Given the description of an element on the screen output the (x, y) to click on. 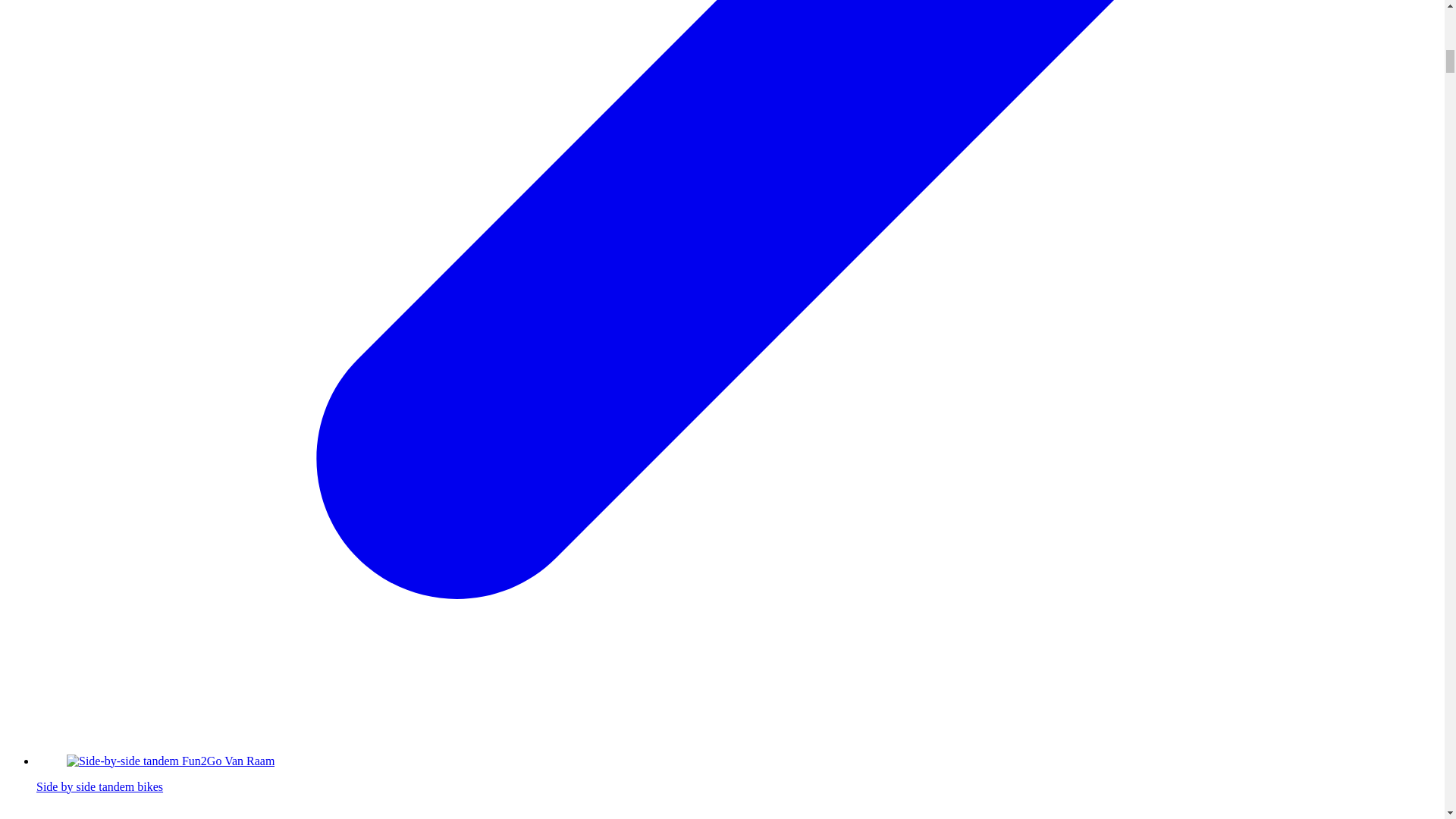
Side-by-side tandem Fun2Go Van Raam (170, 760)
